Given the description of an element on the screen output the (x, y) to click on. 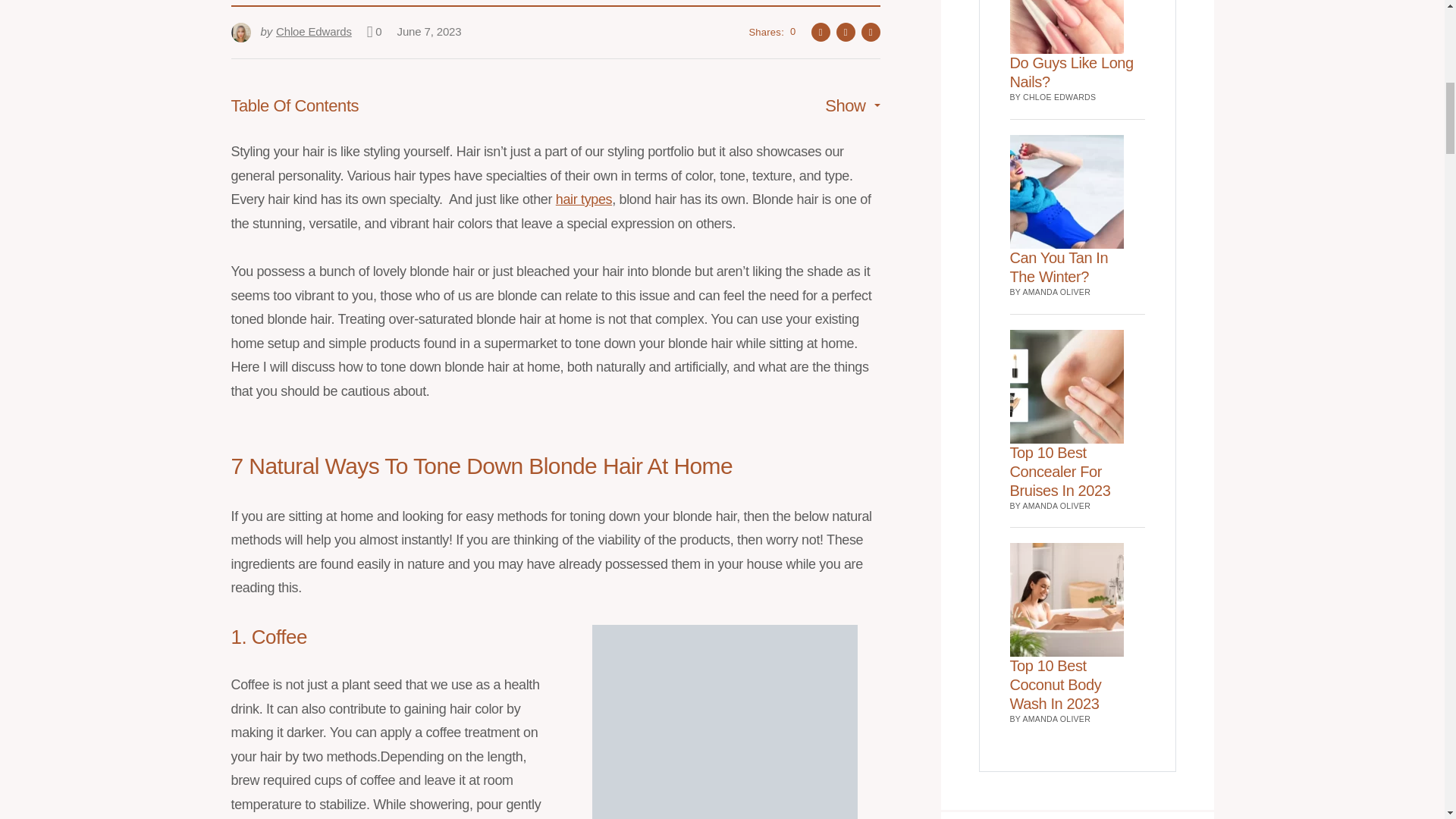
View all posts by Chloe Edwards (290, 32)
